Given the description of an element on the screen output the (x, y) to click on. 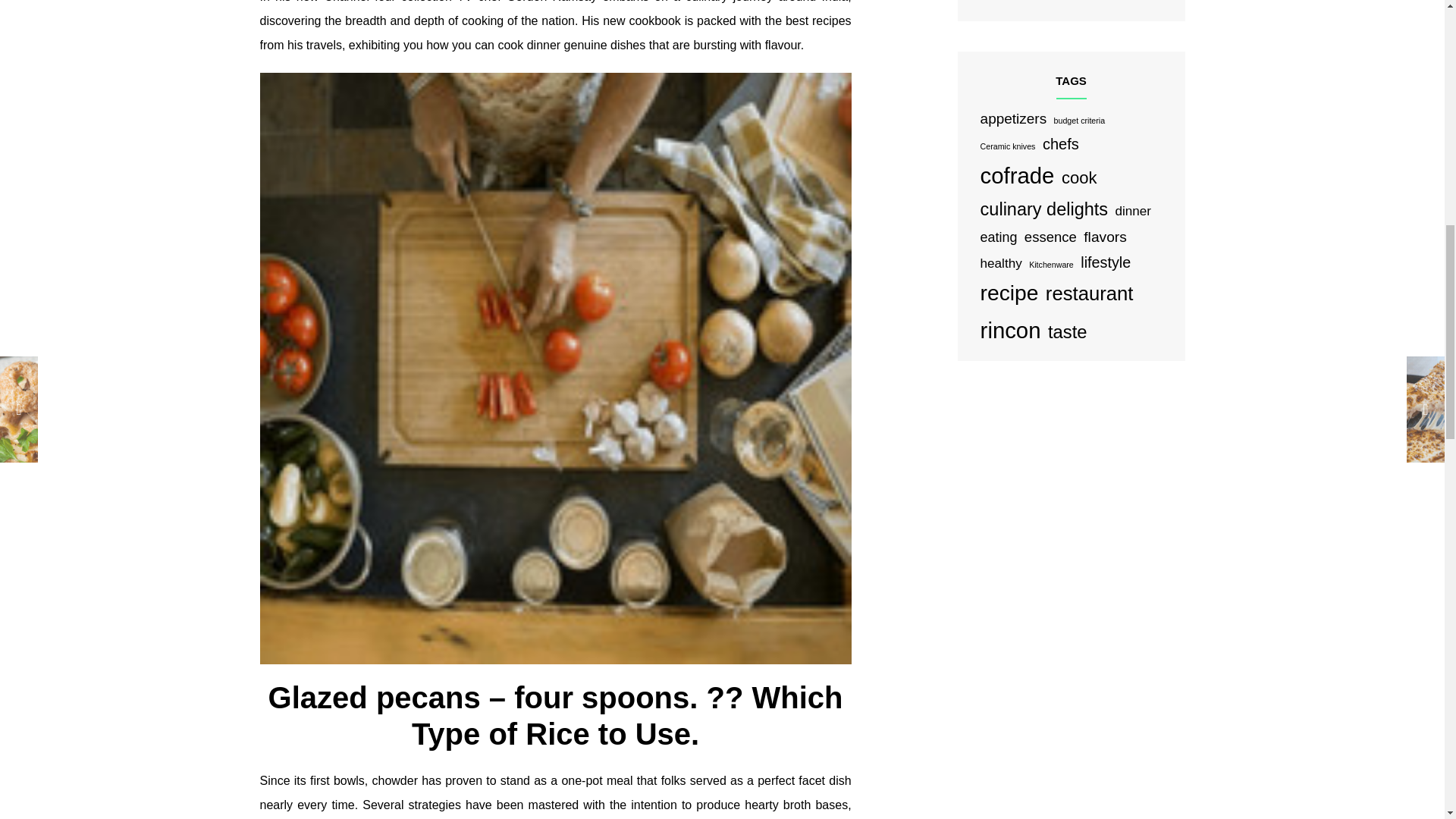
appetizers (1012, 119)
Ceramic knives (1007, 146)
budget criteria (1079, 120)
cofrade (1016, 175)
chefs (1060, 144)
cook (1079, 177)
